Given the description of an element on the screen output the (x, y) to click on. 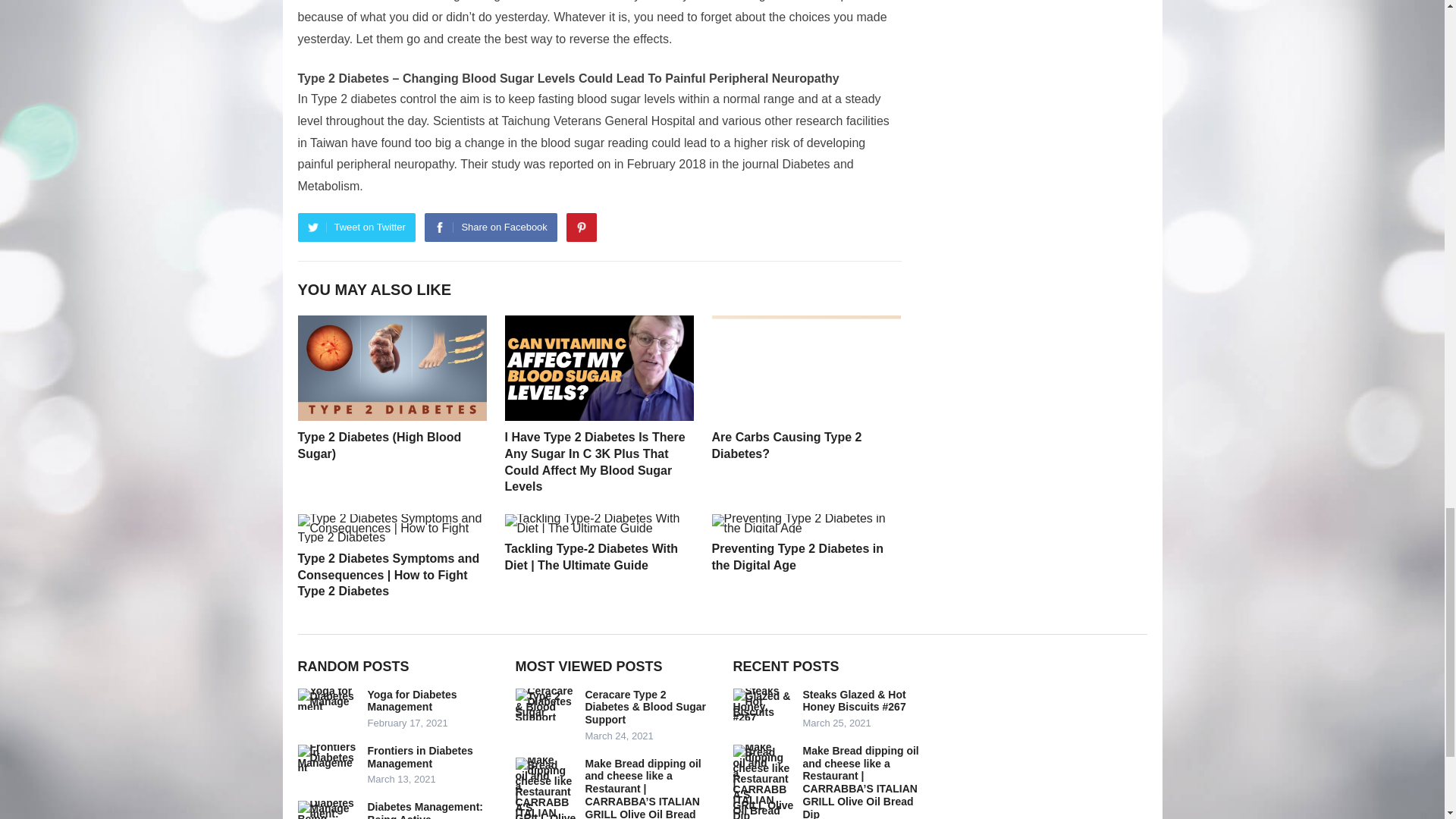
Are Carbs Causing Type 2 Diabetes? 6 (805, 367)
Tweet on Twitter (355, 226)
Preventing Type 2 Diabetes in the Digital Age 12 (805, 523)
Share on Facebook (490, 226)
Pinterest (581, 226)
